Given the description of an element on the screen output the (x, y) to click on. 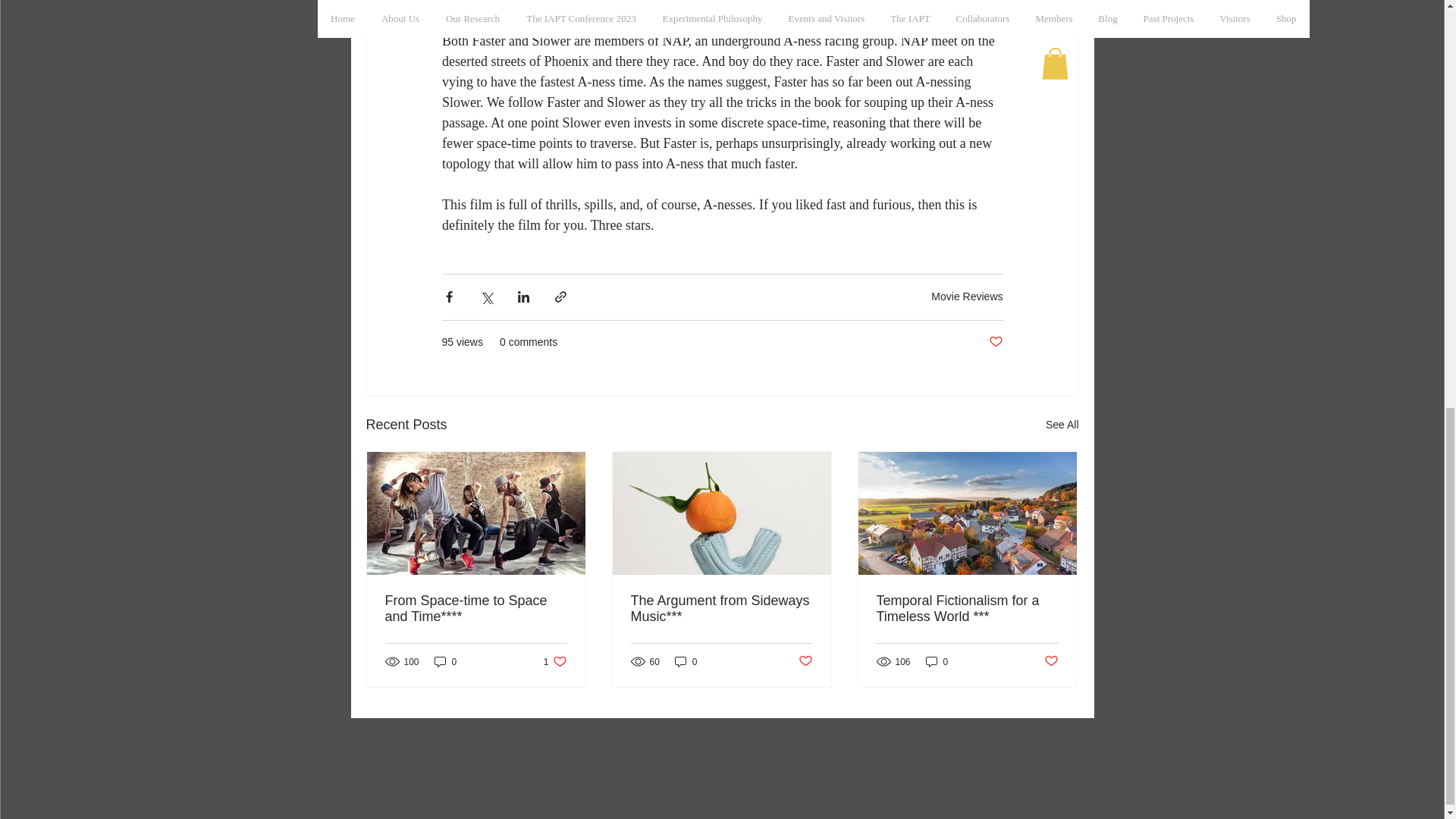
See All (1061, 424)
0 (685, 661)
0 (445, 661)
Post not marked as liked (804, 661)
Post not marked as liked (995, 342)
Movie Reviews (967, 296)
